Given the description of an element on the screen output the (x, y) to click on. 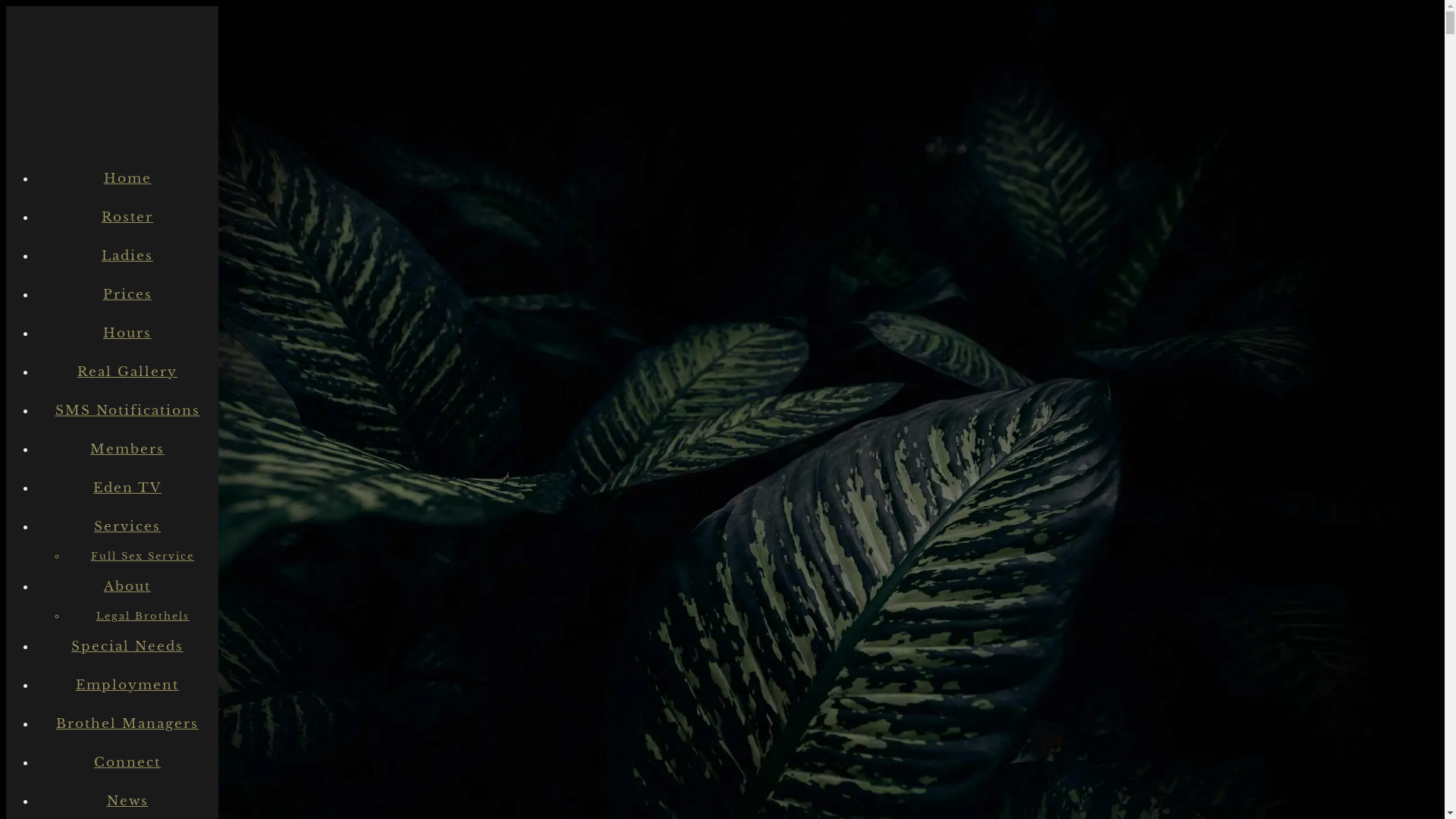
Brothel Managers Element type: text (127, 723)
Roster Element type: text (127, 217)
Members Element type: text (127, 449)
Full Sex Service Element type: text (142, 555)
Special Needs Element type: text (127, 646)
Connect Element type: text (127, 762)
About Element type: text (126, 586)
SMS Notifications Element type: text (126, 410)
Employment Element type: text (126, 685)
Real Gallery Element type: text (127, 371)
Prices Element type: text (127, 294)
News Element type: text (126, 801)
Eden TV Element type: text (127, 487)
Ladies Element type: text (127, 255)
Services Element type: text (127, 526)
Legal Brothels Element type: text (141, 615)
Hours Element type: text (127, 333)
Home Element type: text (126, 178)
